Given the description of an element on the screen output the (x, y) to click on. 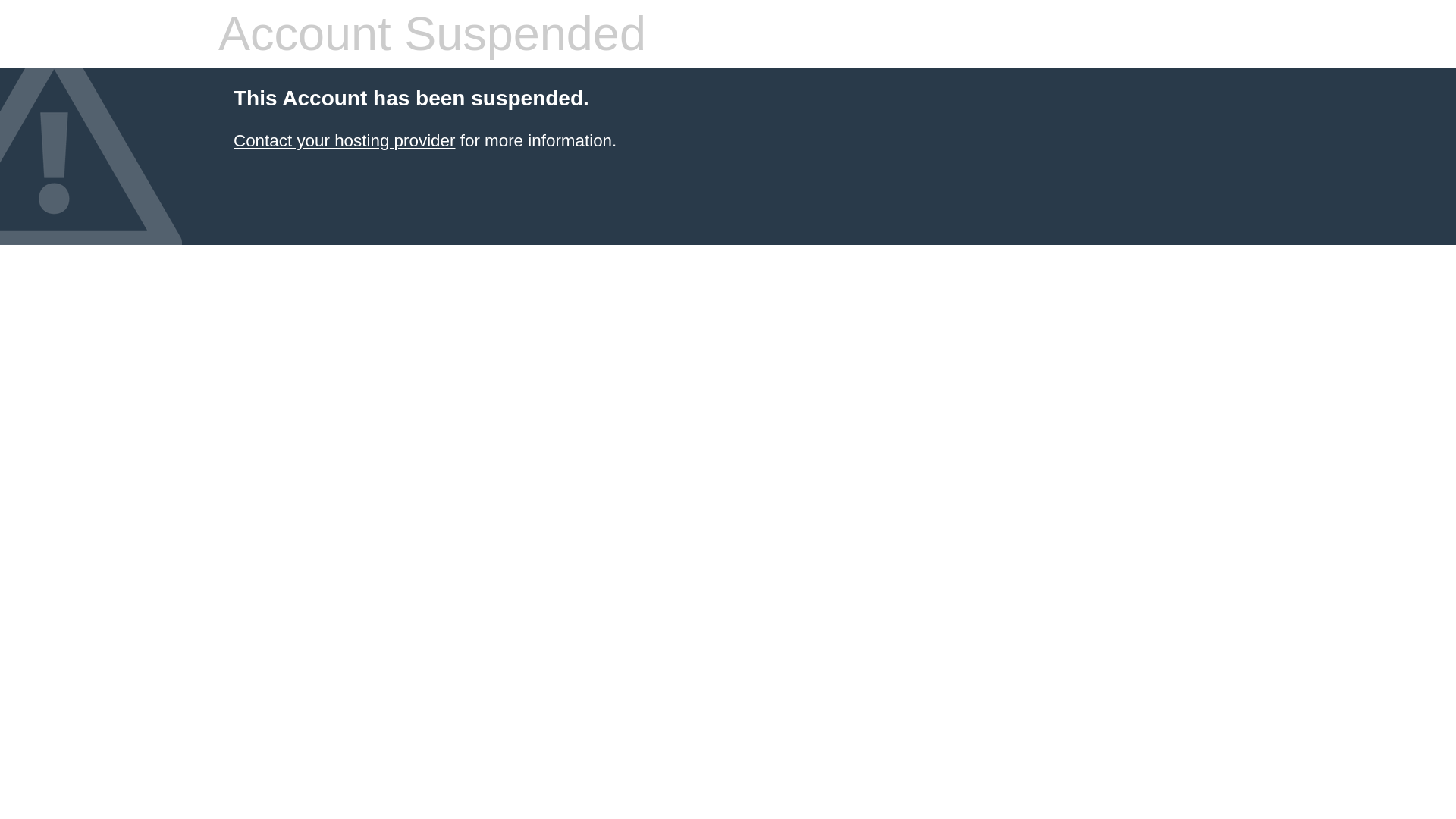
Contact your hosting provider (343, 140)
